Given the description of an element on the screen output the (x, y) to click on. 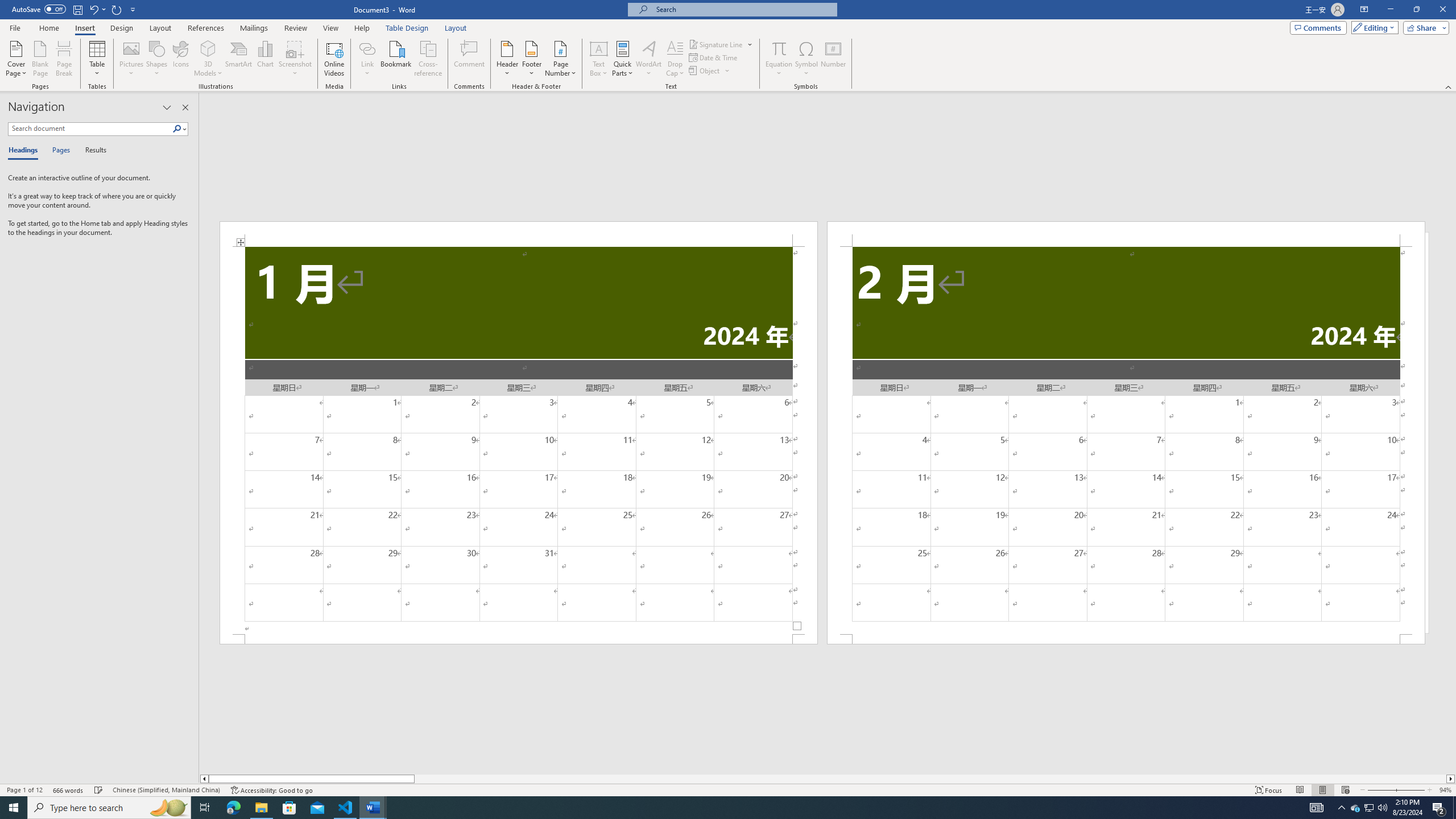
Undo Increase Indent (96, 9)
Accessibility Checker Accessibility: Good to go (271, 790)
Header -Section 1- (518, 233)
Table Design (407, 28)
Column left (203, 778)
Header (507, 58)
Mode (1372, 27)
Page Number (560, 58)
Share (1423, 27)
File Tab (15, 27)
Cover Page (16, 58)
Header -Section 2- (1126, 233)
Page 2 content (1126, 439)
3D Models (208, 58)
Column right (1450, 778)
